Given the description of an element on the screen output the (x, y) to click on. 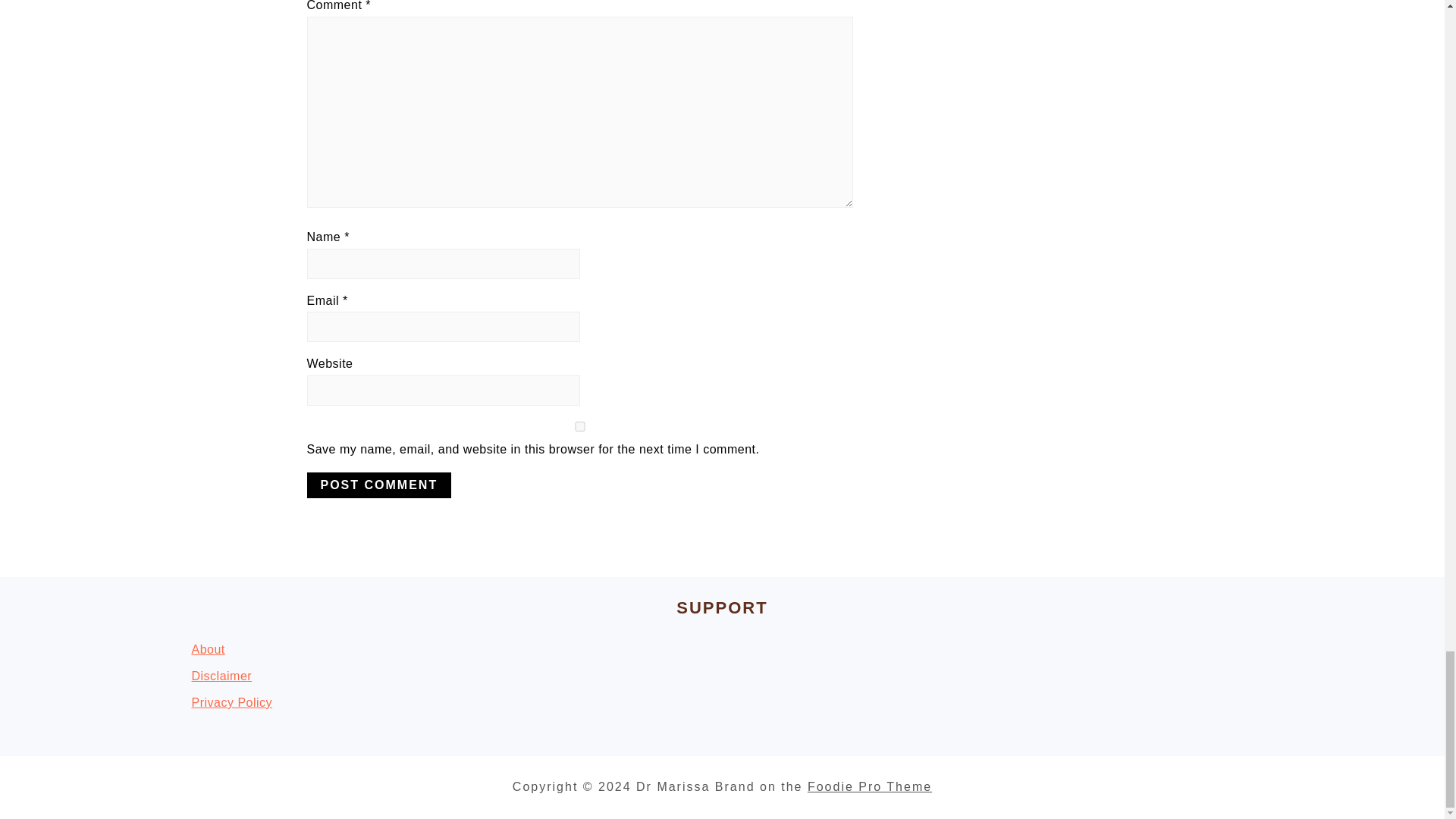
Post Comment (378, 484)
yes (578, 426)
